Given the description of an element on the screen output the (x, y) to click on. 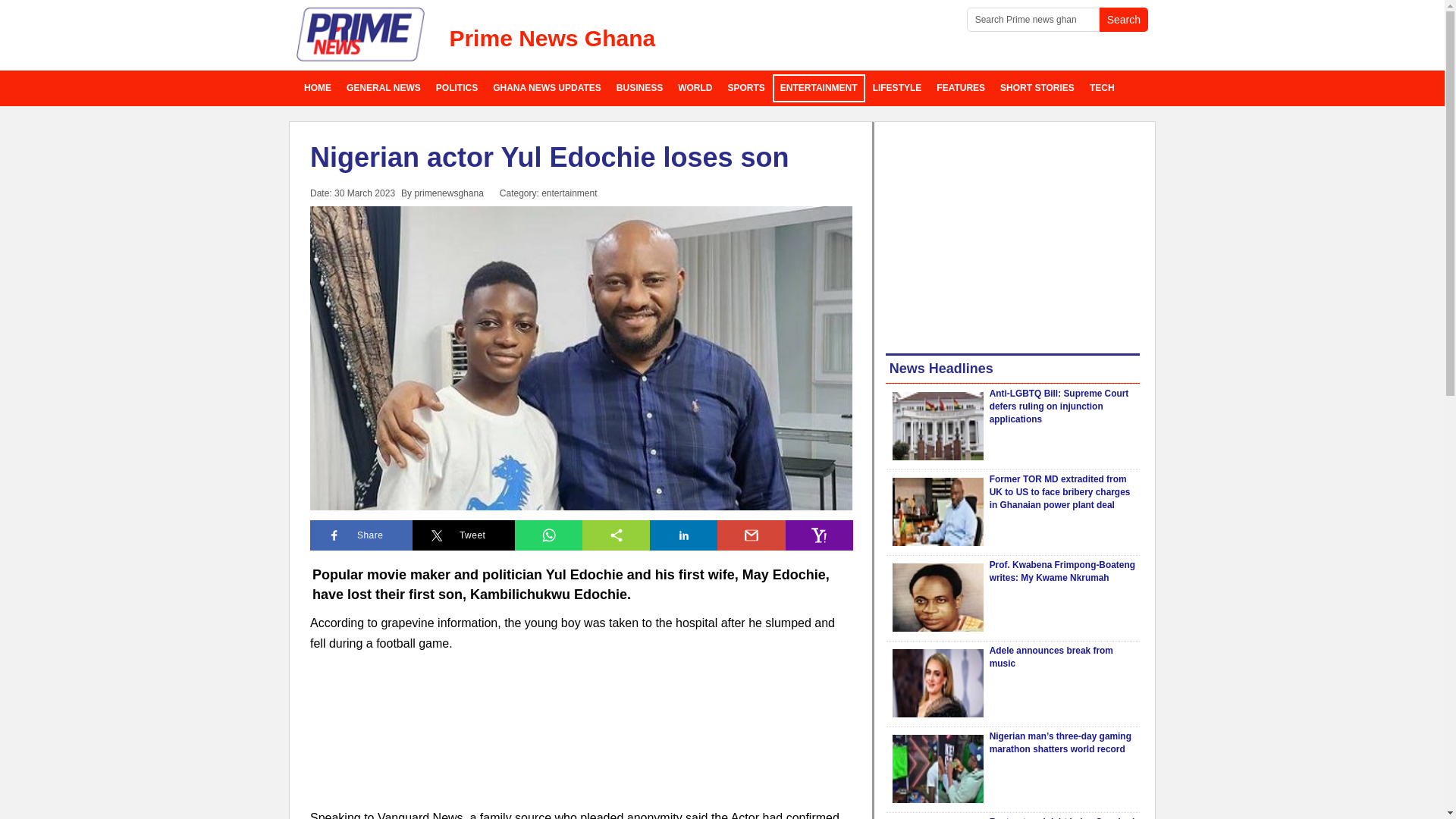
Advertisement (1012, 235)
SPORTS (746, 88)
Nigerian actor Yul Edochie loses son (549, 156)
HOME (318, 88)
ENTERTAINMENT (818, 88)
POLITICS (456, 88)
LIFESTYLE (897, 88)
Prof. Kwabena Frimpong-Boateng writes: My Kwame Nkrumah (938, 597)
SHORT STORIES (1036, 88)
Tech News on Prime (1101, 88)
FEATURES (960, 88)
WORLD (694, 88)
